Given the description of an element on the screen output the (x, y) to click on. 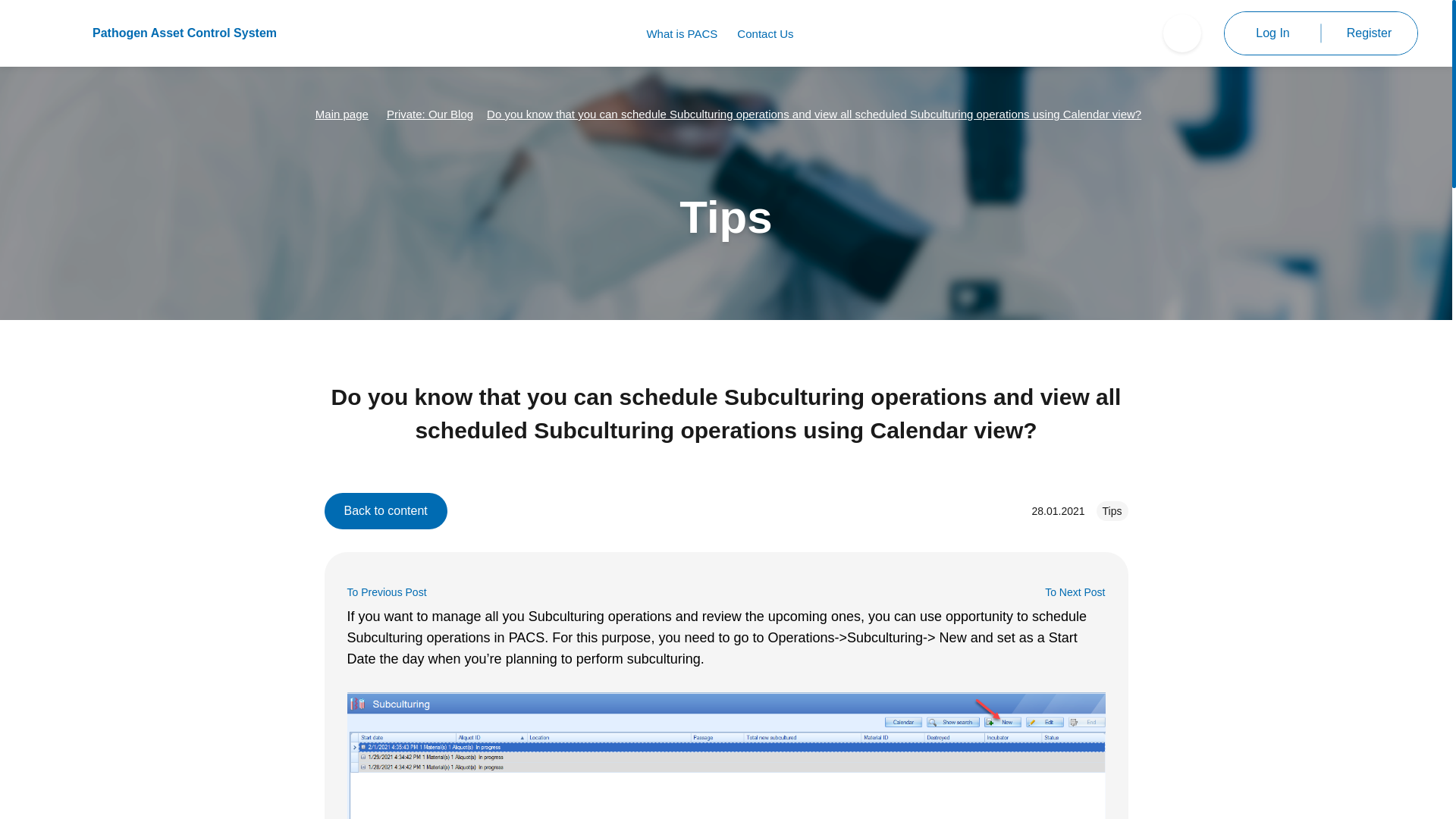
Go to Main page. (341, 114)
Go to Private: Our Blog. (429, 114)
What is PACS (682, 32)
Main page (341, 114)
Log In (1272, 33)
Pathogen Asset Control System (154, 33)
To Previous Post (386, 592)
Back to content (385, 511)
Private: Our Blog (429, 114)
To Next Post (1075, 592)
Register (1368, 33)
Contact Us (764, 32)
